Given the description of an element on the screen output the (x, y) to click on. 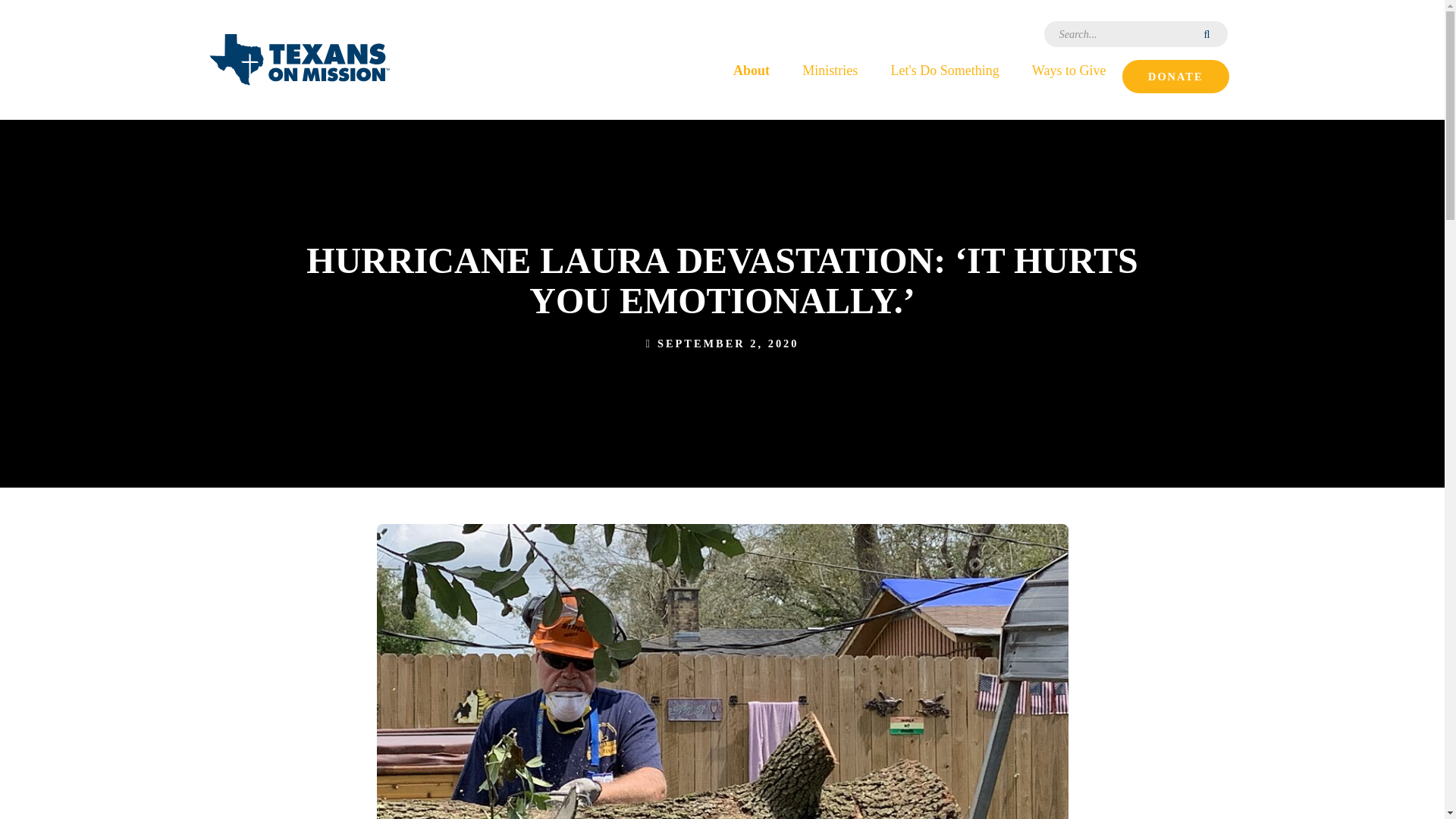
DONATE (1175, 76)
Ministries (830, 68)
SEARCH (1208, 33)
Ways to Give (1068, 68)
About (751, 68)
Let's Do Something (944, 68)
